Given the description of an element on the screen output the (x, y) to click on. 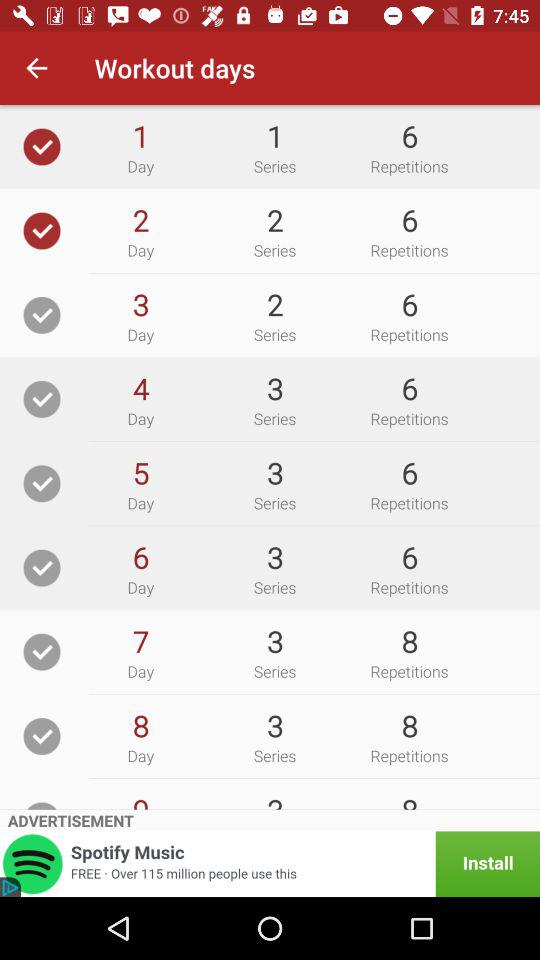
launch icon next to workout days app (36, 68)
